Given the description of an element on the screen output the (x, y) to click on. 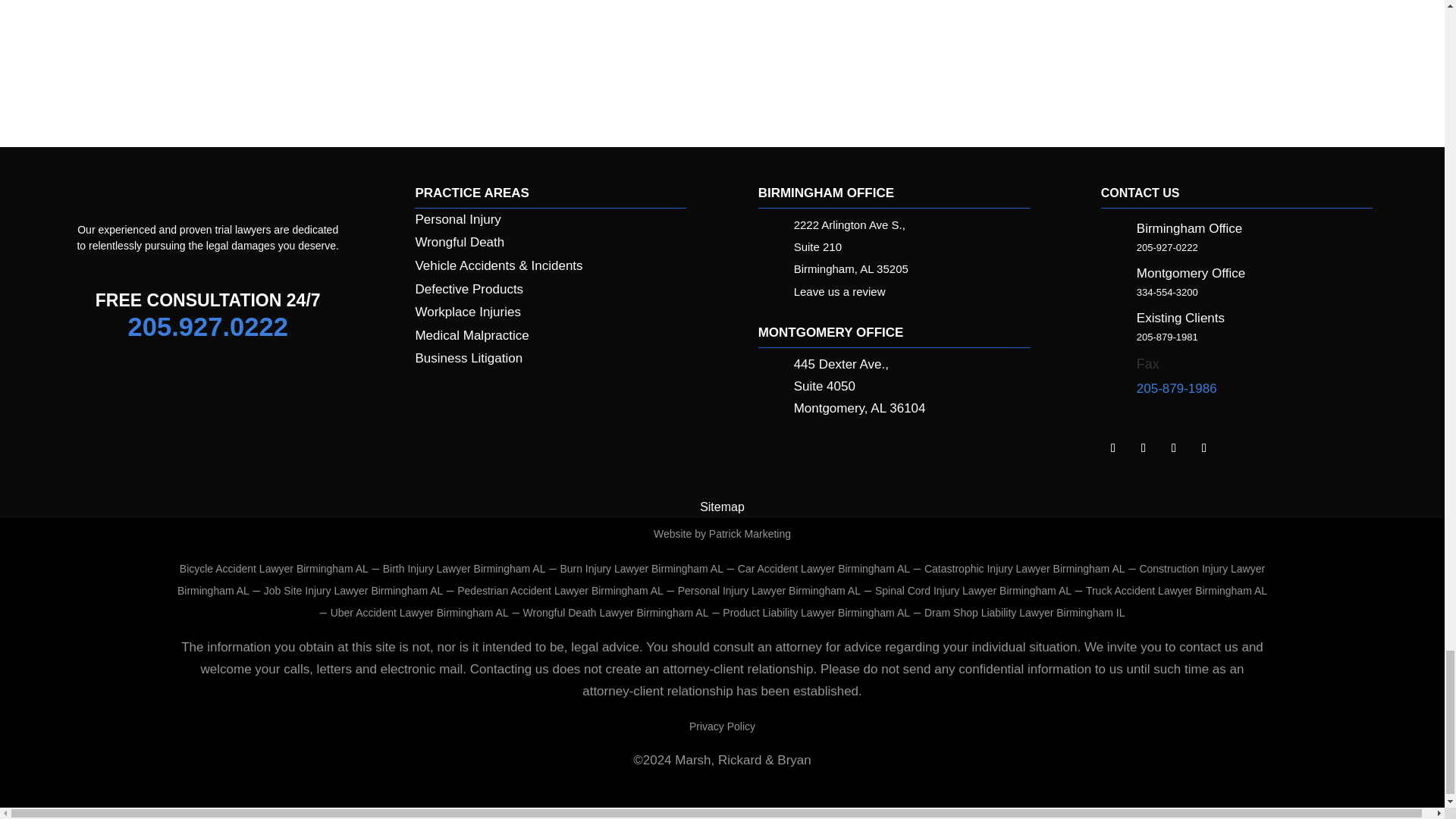
Follow on Facebook (1143, 447)
Follow on Youtube (1203, 447)
Follow on LinkedIn (1112, 447)
Follow on X (1173, 447)
